Given the description of an element on the screen output the (x, y) to click on. 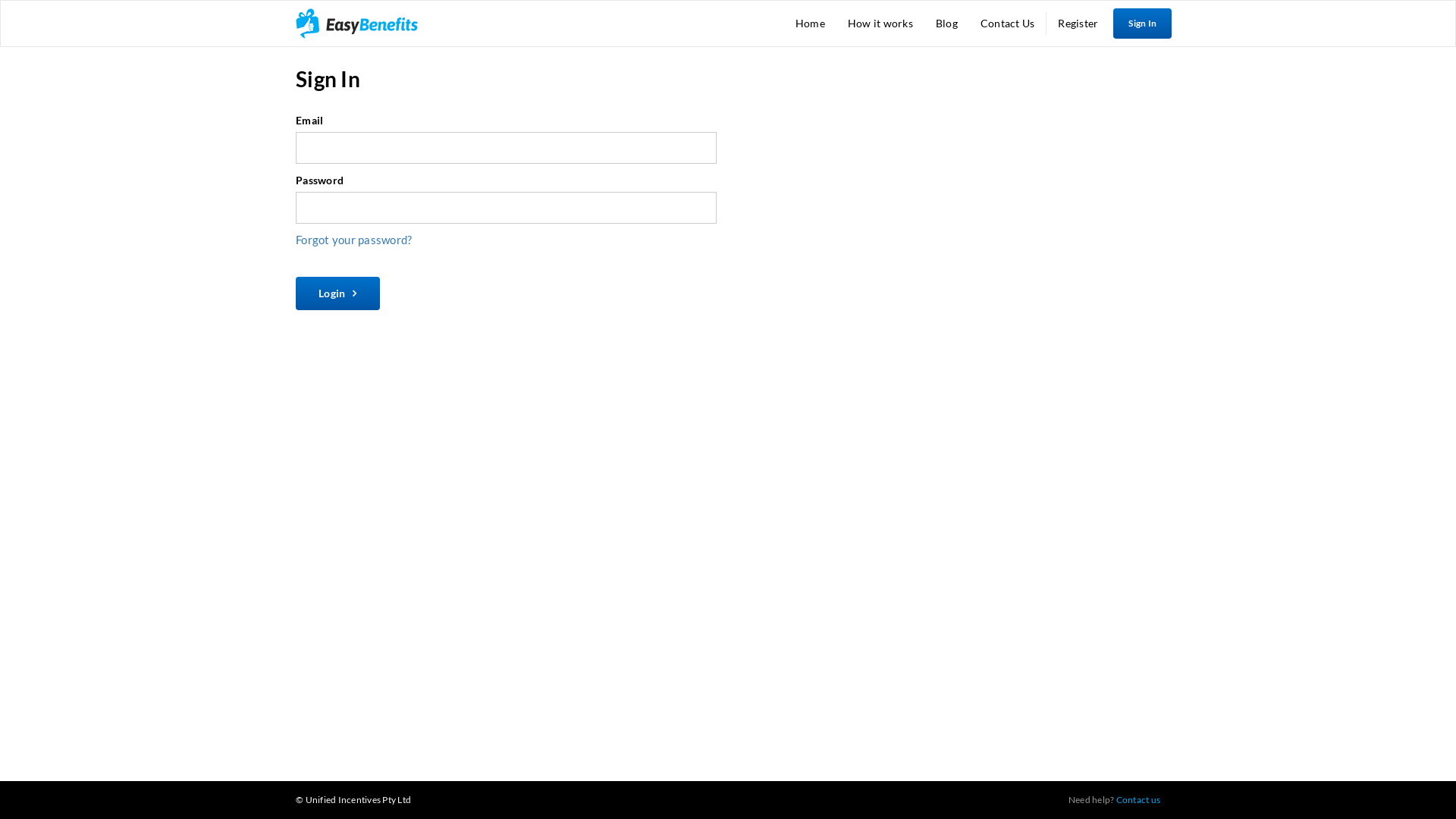
How it works Element type: text (880, 23)
Register Element type: text (1077, 23)
Contact Us Element type: text (1007, 23)
Blog Element type: text (946, 23)
Login Element type: text (337, 293)
Contact us Element type: text (1138, 799)
Sign In Element type: text (1142, 23)
Forgot your password? Element type: text (353, 239)
Home Element type: text (810, 23)
